Given the description of an element on the screen output the (x, y) to click on. 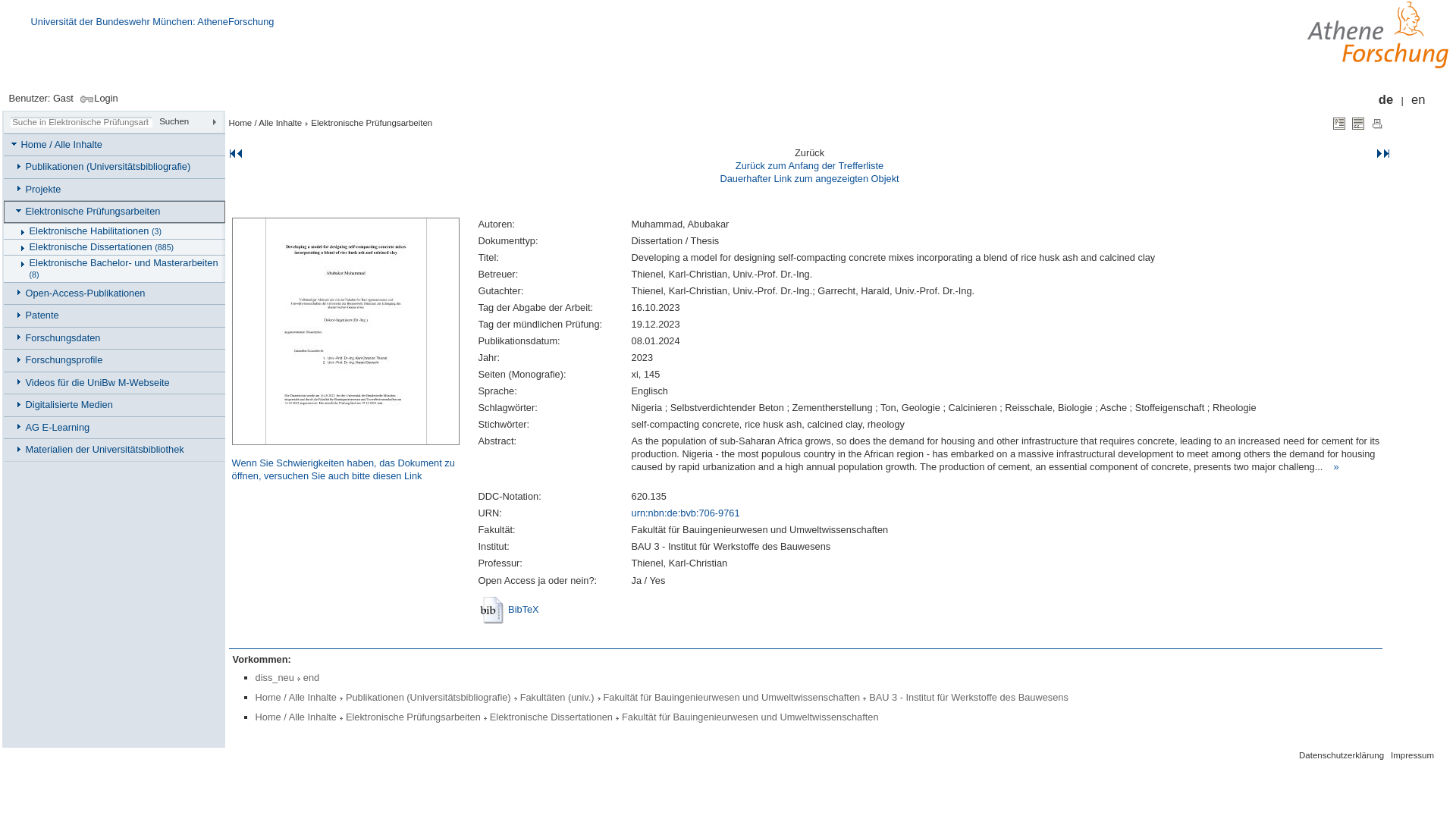
Suche starten (191, 121)
de (1385, 99)
Textansicht (1358, 122)
Dokument-Ansicht (1339, 122)
Anmelden (96, 98)
 Login (96, 98)
Forschungsprofile (116, 360)
Suchen (191, 121)
en (1417, 99)
Open-Access-Publikationen (116, 293)
Forschungsdaten (116, 338)
In neuem Fenster anzeigen (685, 512)
Suchen (191, 121)
Projekte (116, 189)
Patente (116, 315)
